Given the description of an element on the screen output the (x, y) to click on. 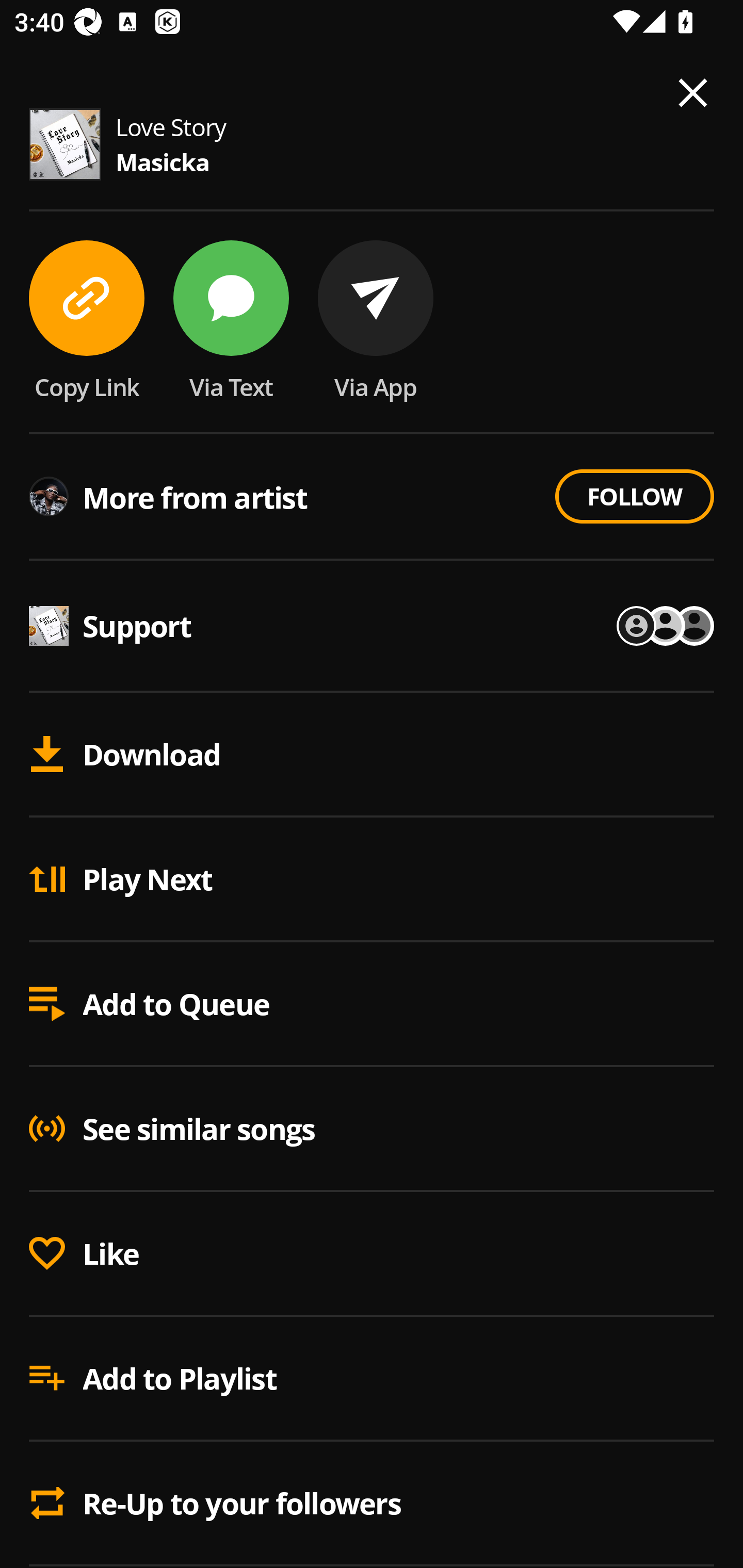
Close (693, 93)
Song artwork Indila Love Story Download Actions (371, 535)
FOLLOW Follow (634, 495)
Like (371, 1254)
Re-Up to your followers (371, 1503)
